Given the description of an element on the screen output the (x, y) to click on. 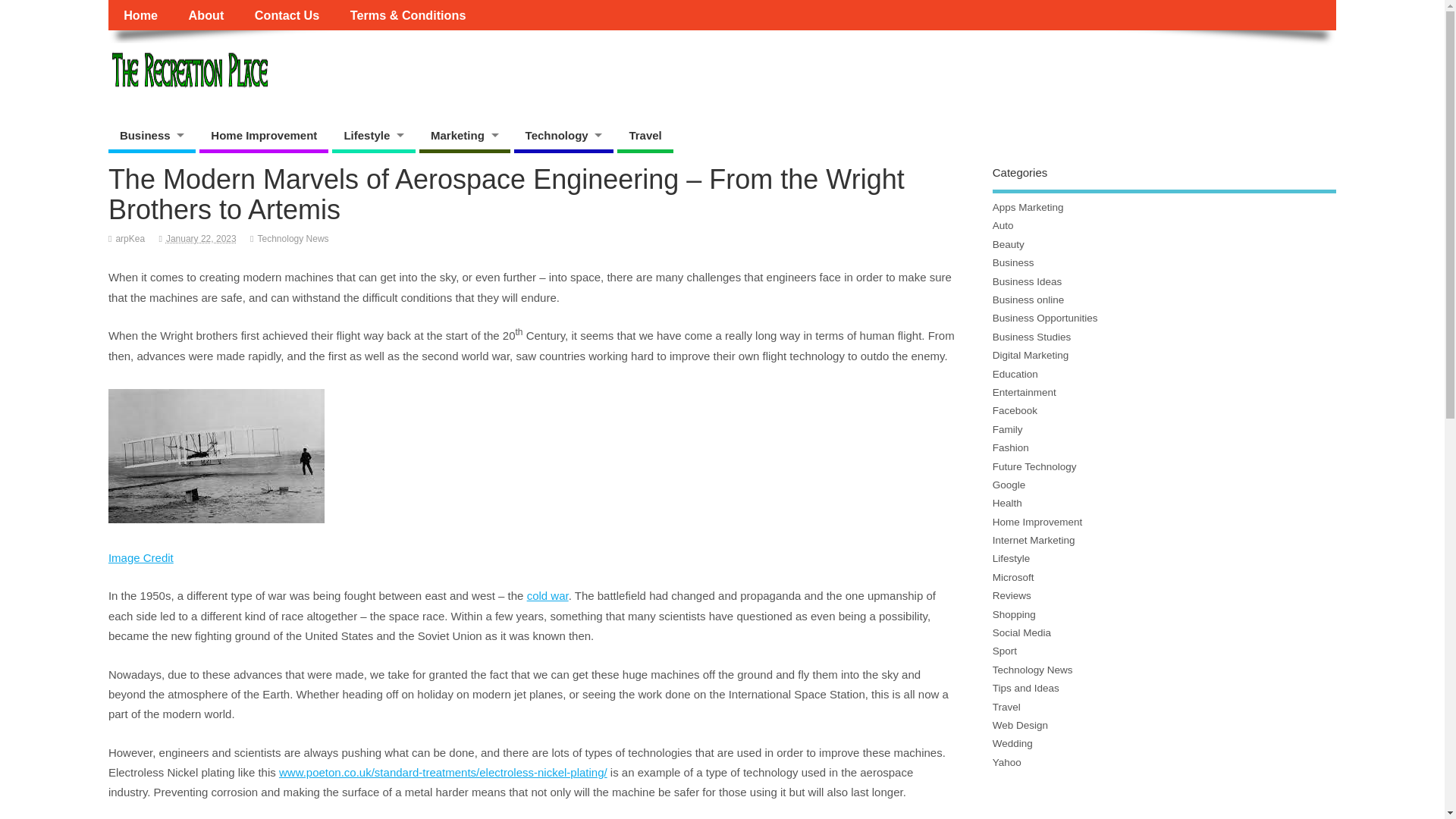
cold war (548, 594)
Technology (563, 137)
Home (140, 15)
Image Credit (140, 557)
arpKea (129, 238)
About (205, 15)
Lifestyle (372, 137)
Posts by arpKea (129, 238)
Home Improvement (264, 137)
Marketing (465, 137)
